Given the description of an element on the screen output the (x, y) to click on. 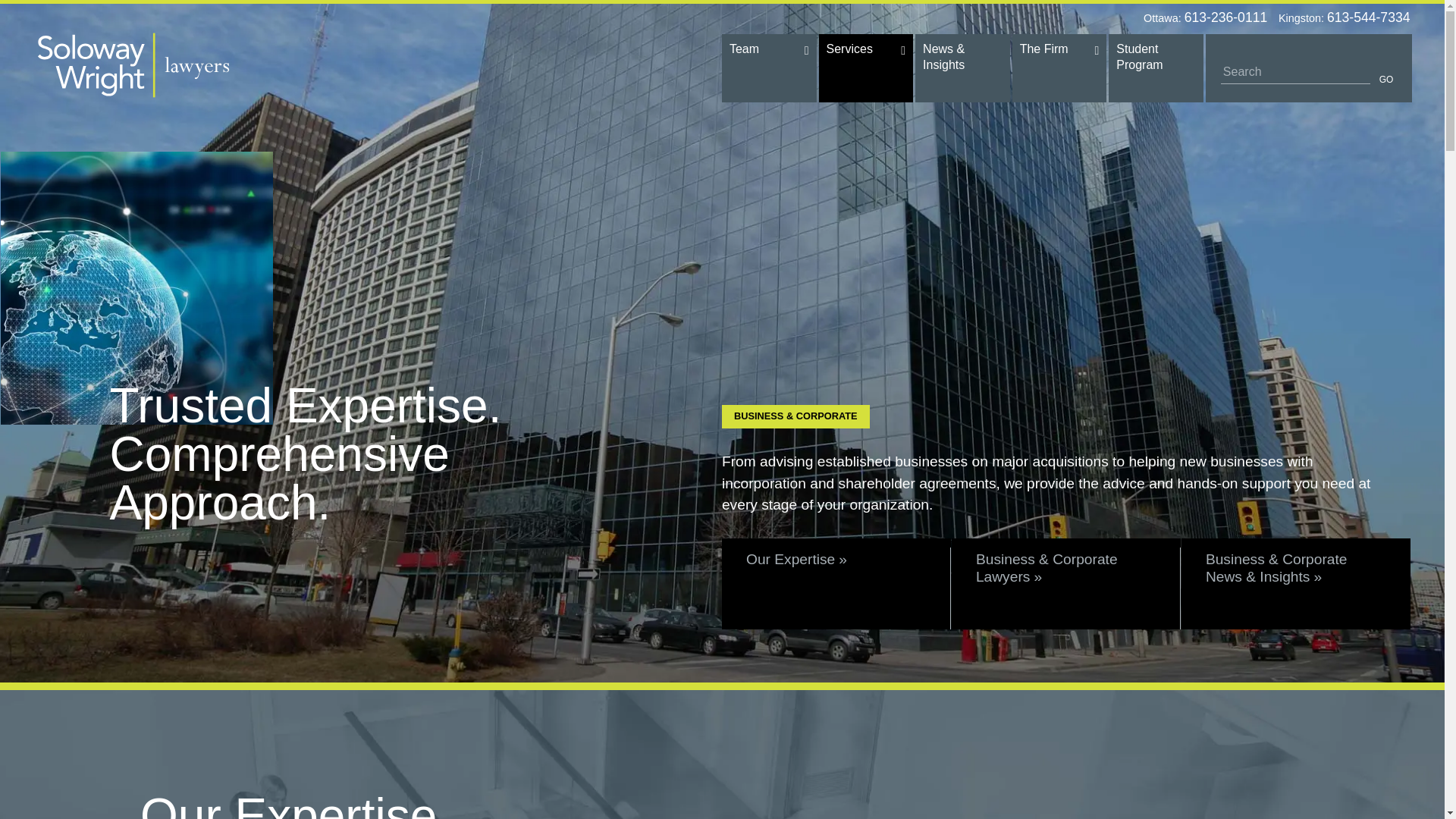
Ottawa: 613-236-0111 (1203, 17)
Team (769, 68)
Kingston: 613-544-7334 (1342, 17)
